Given the description of an element on the screen output the (x, y) to click on. 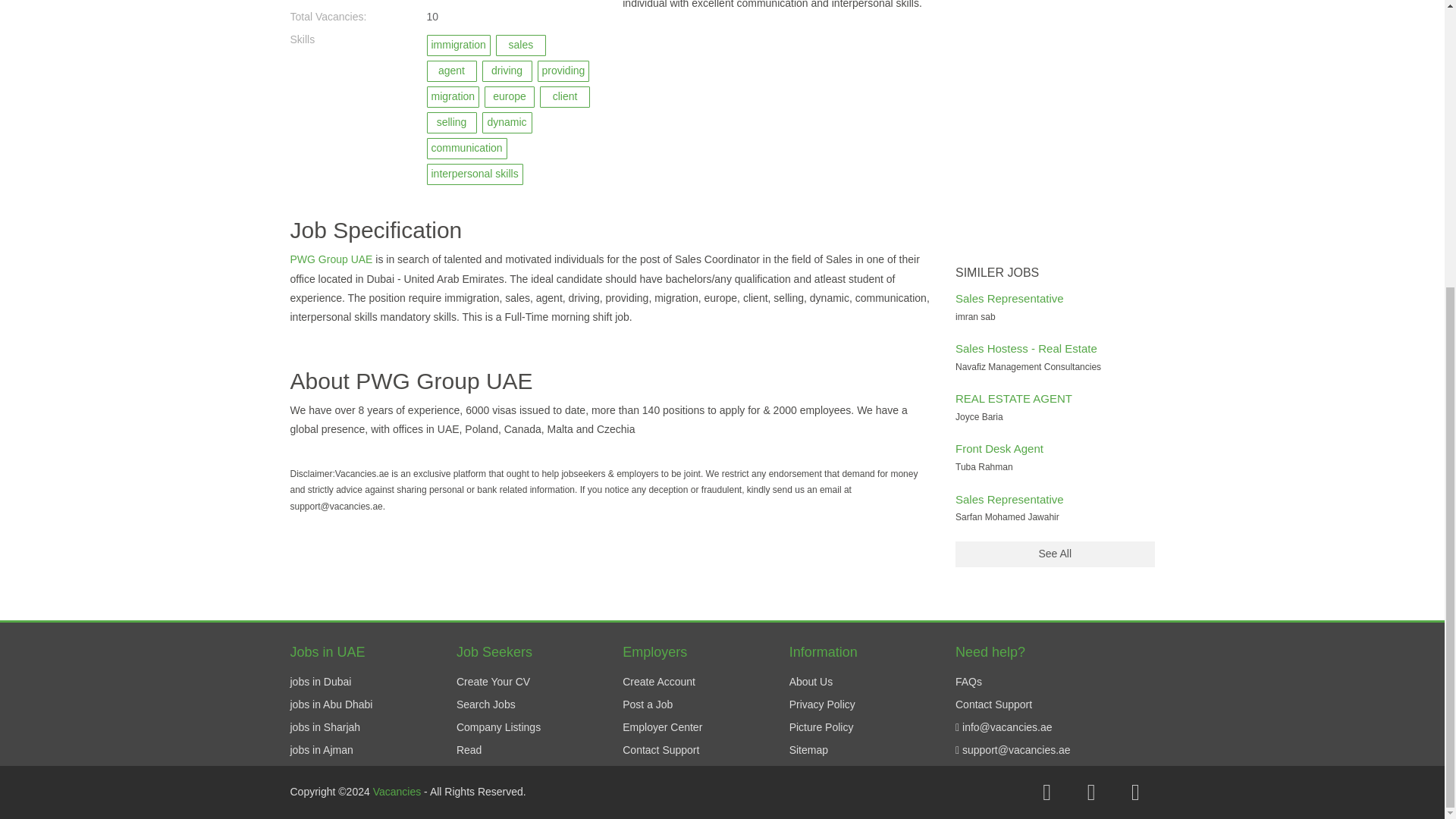
REAL ESTATE AGENT (1013, 398)
Sales Hostess - Real Estate (1026, 348)
Create Account (659, 681)
Read (469, 749)
See All (1054, 554)
Company Listings (498, 727)
Front Desk Agent (999, 448)
Search Jobs (486, 704)
jobs in Ajman (320, 749)
jobs in Sharjah (324, 727)
